Given the description of an element on the screen output the (x, y) to click on. 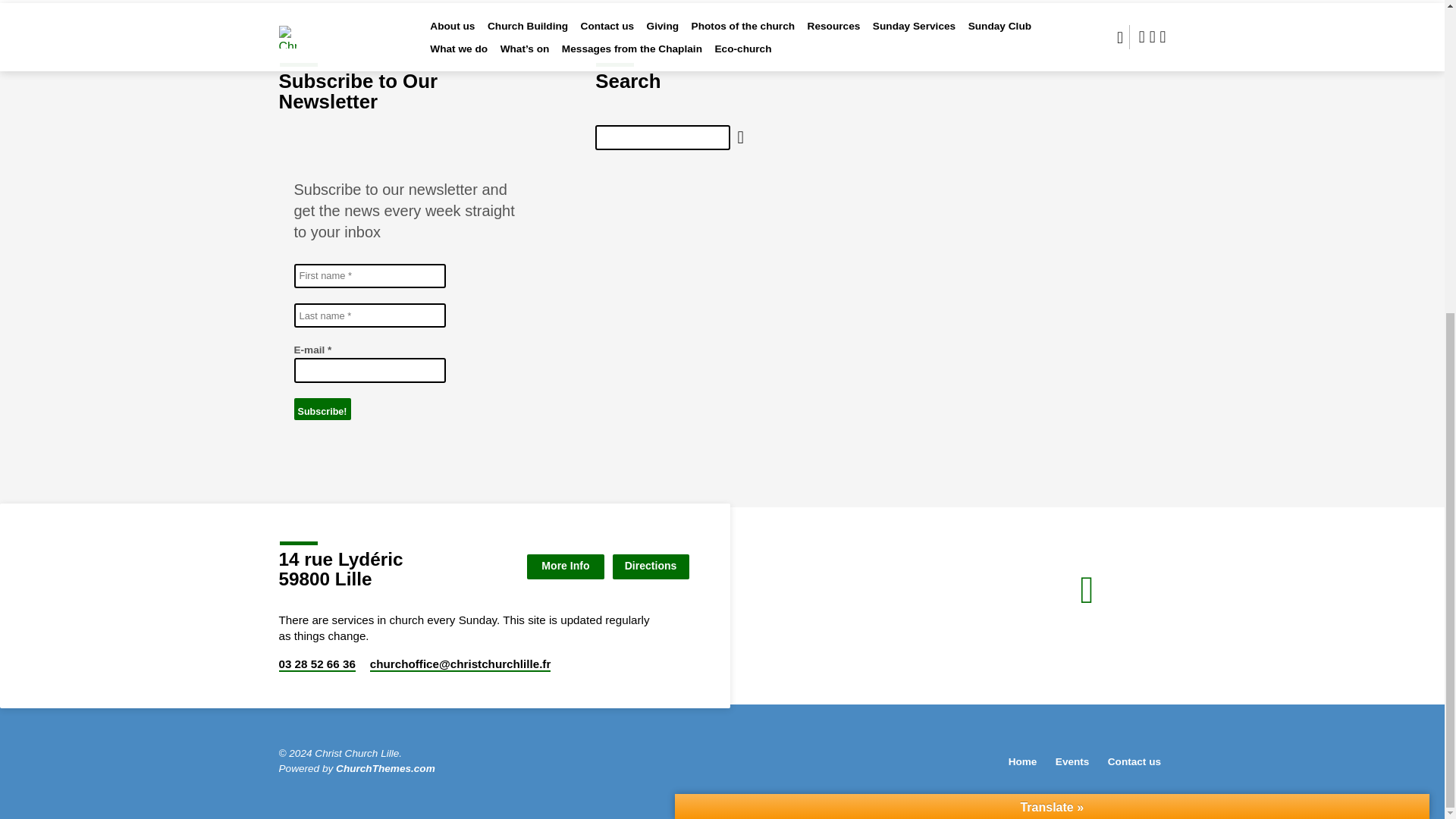
Subscribe! (322, 409)
Last name (369, 315)
E-mail (369, 369)
First name (369, 275)
